Given the description of an element on the screen output the (x, y) to click on. 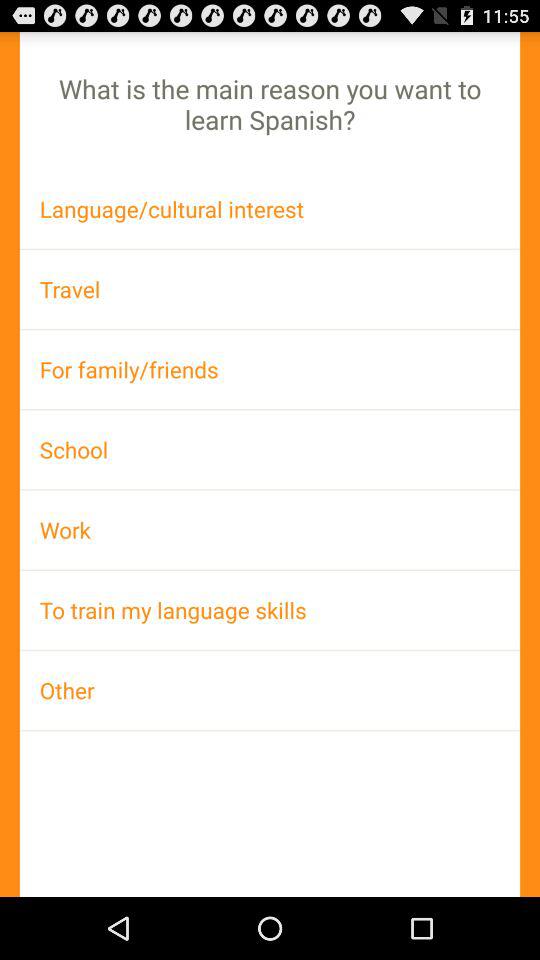
flip until travel app (269, 288)
